Given the description of an element on the screen output the (x, y) to click on. 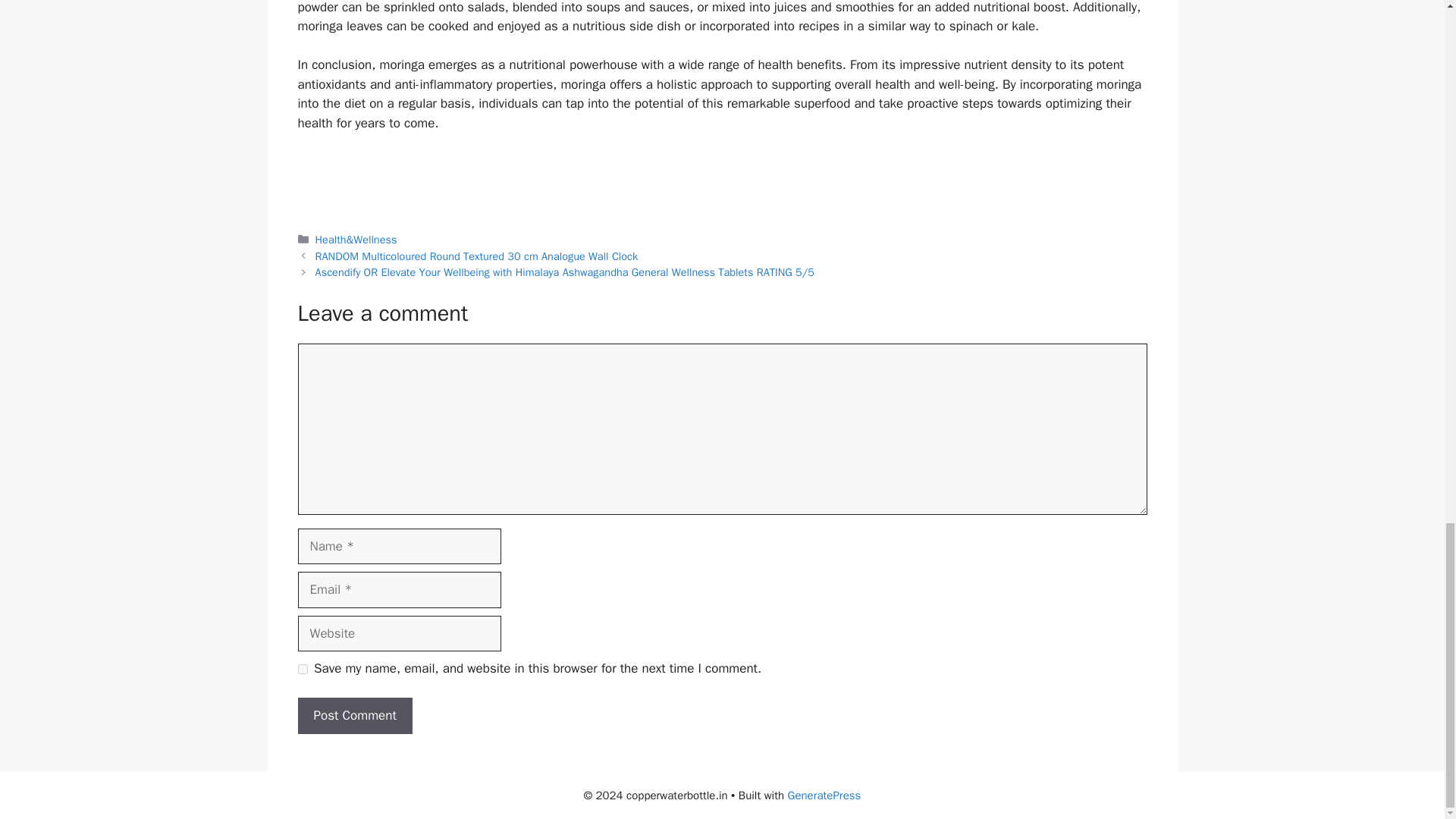
Post Comment (354, 715)
Post Comment (354, 715)
yes (302, 669)
Scroll back to top (1406, 63)
GeneratePress (824, 795)
